Given the description of an element on the screen output the (x, y) to click on. 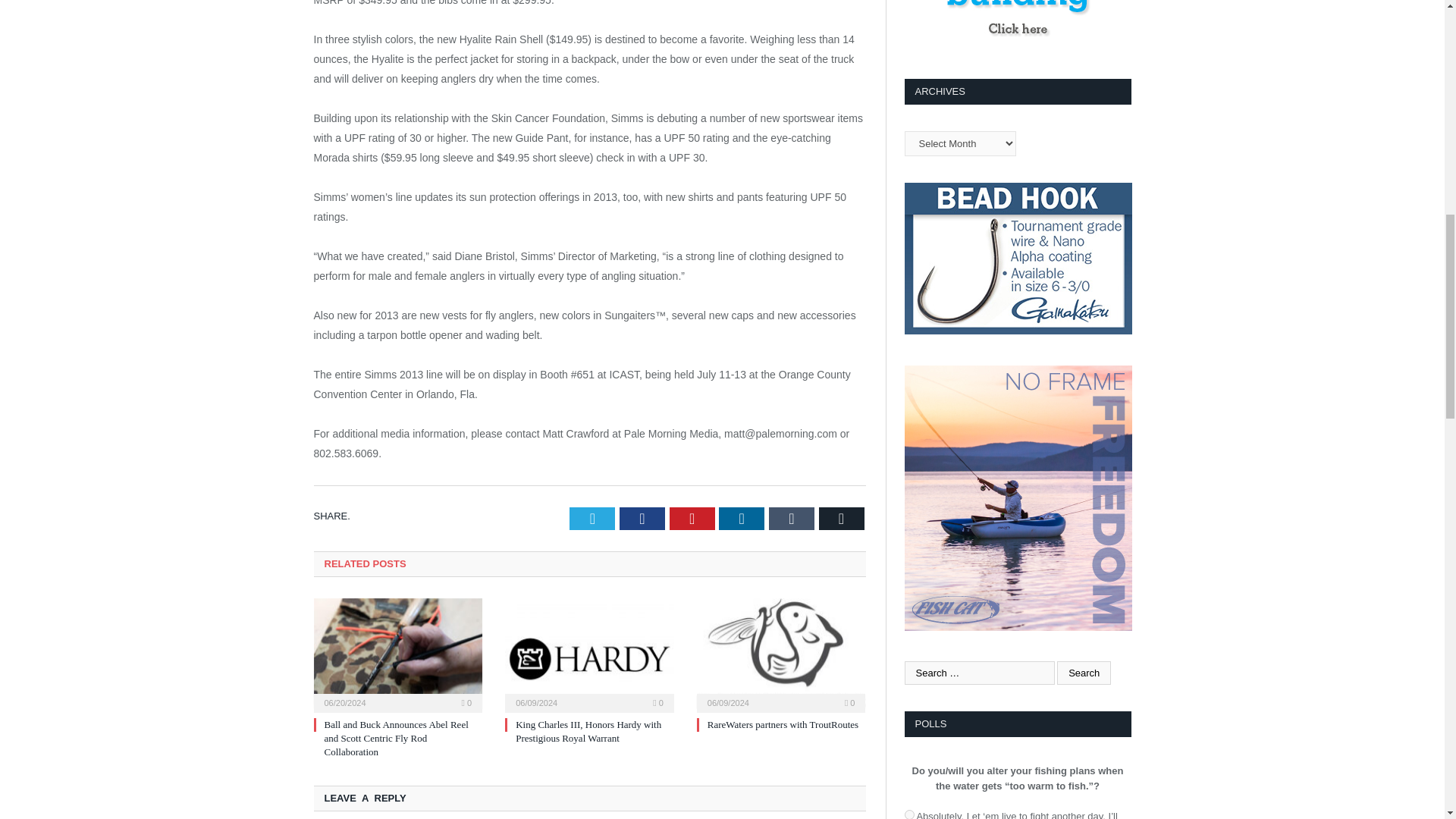
Pinterest (691, 517)
Tumblr (790, 517)
Twitter (591, 517)
Facebook (642, 517)
1220 (909, 814)
Email (841, 517)
Search (1083, 672)
0 (466, 702)
0 (657, 702)
LinkedIn (741, 517)
Search (1083, 672)
